Given the description of an element on the screen output the (x, y) to click on. 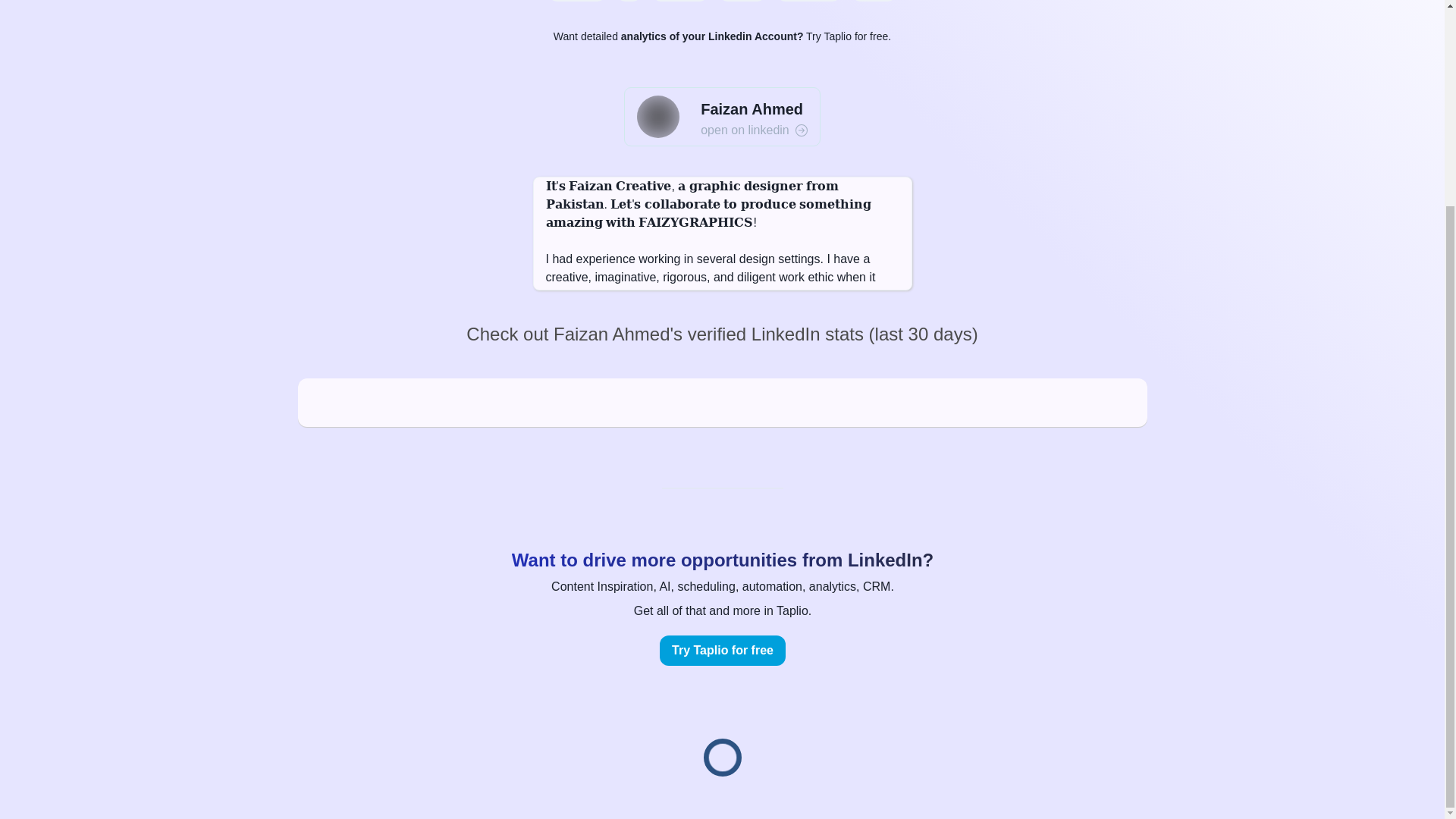
thibaultll (742, 0)
lukematthws (808, 0)
amewborn (679, 0)
Try Taplio for free (722, 650)
open on linkedin (754, 130)
justinwelsh (576, 0)
-g- (628, 0)
abelcak (873, 0)
